Given the description of an element on the screen output the (x, y) to click on. 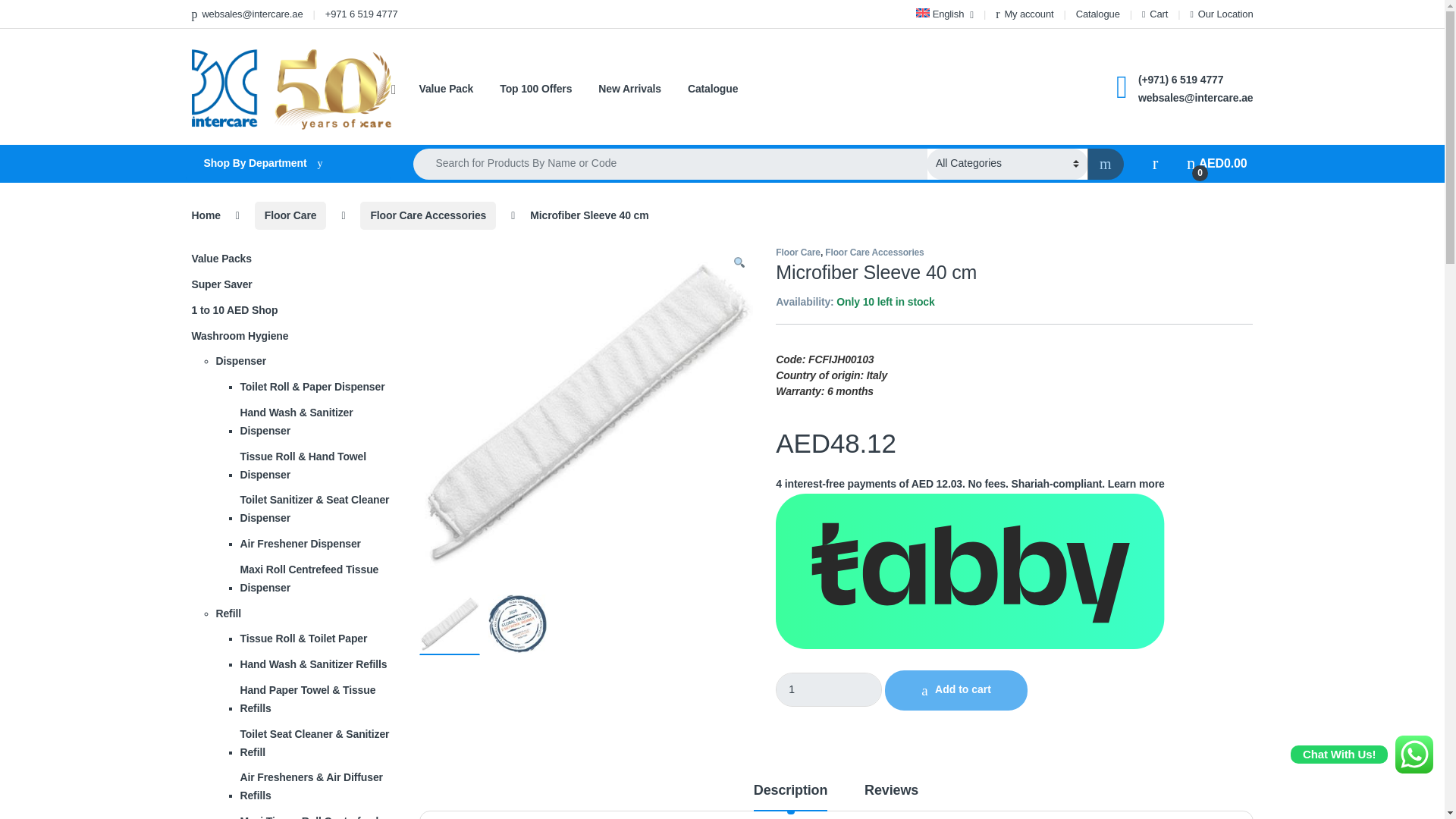
Catalogue (1097, 13)
Top 100 Offers (535, 89)
Our Location (1220, 13)
1 (829, 689)
English (943, 13)
Catalogue (1097, 13)
 English (943, 13)
New Arrivals (629, 89)
Our Location (1220, 13)
My account (1023, 13)
